Given the description of an element on the screen output the (x, y) to click on. 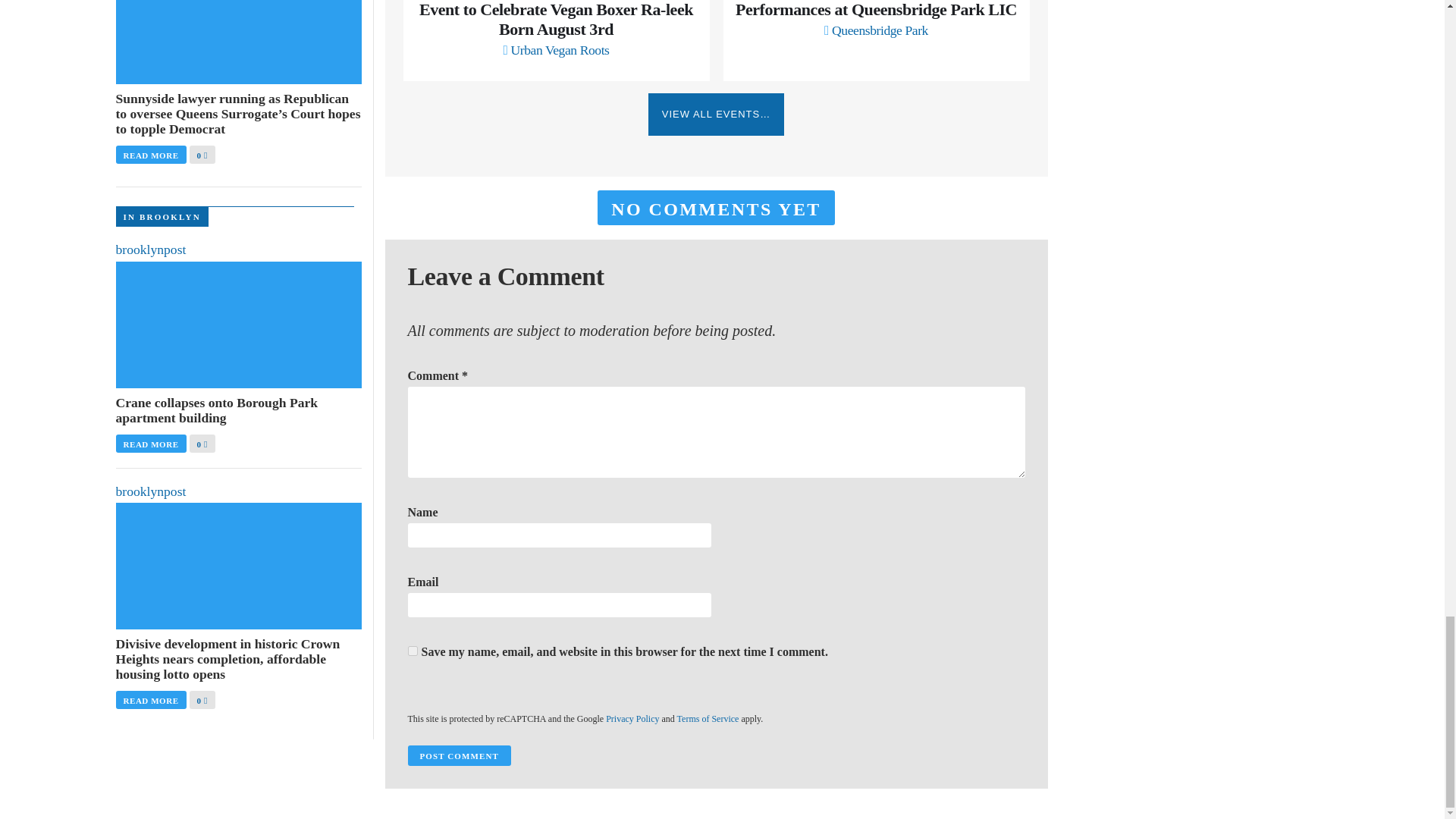
yes (412, 651)
Post Comment (459, 755)
